Given the description of an element on the screen output the (x, y) to click on. 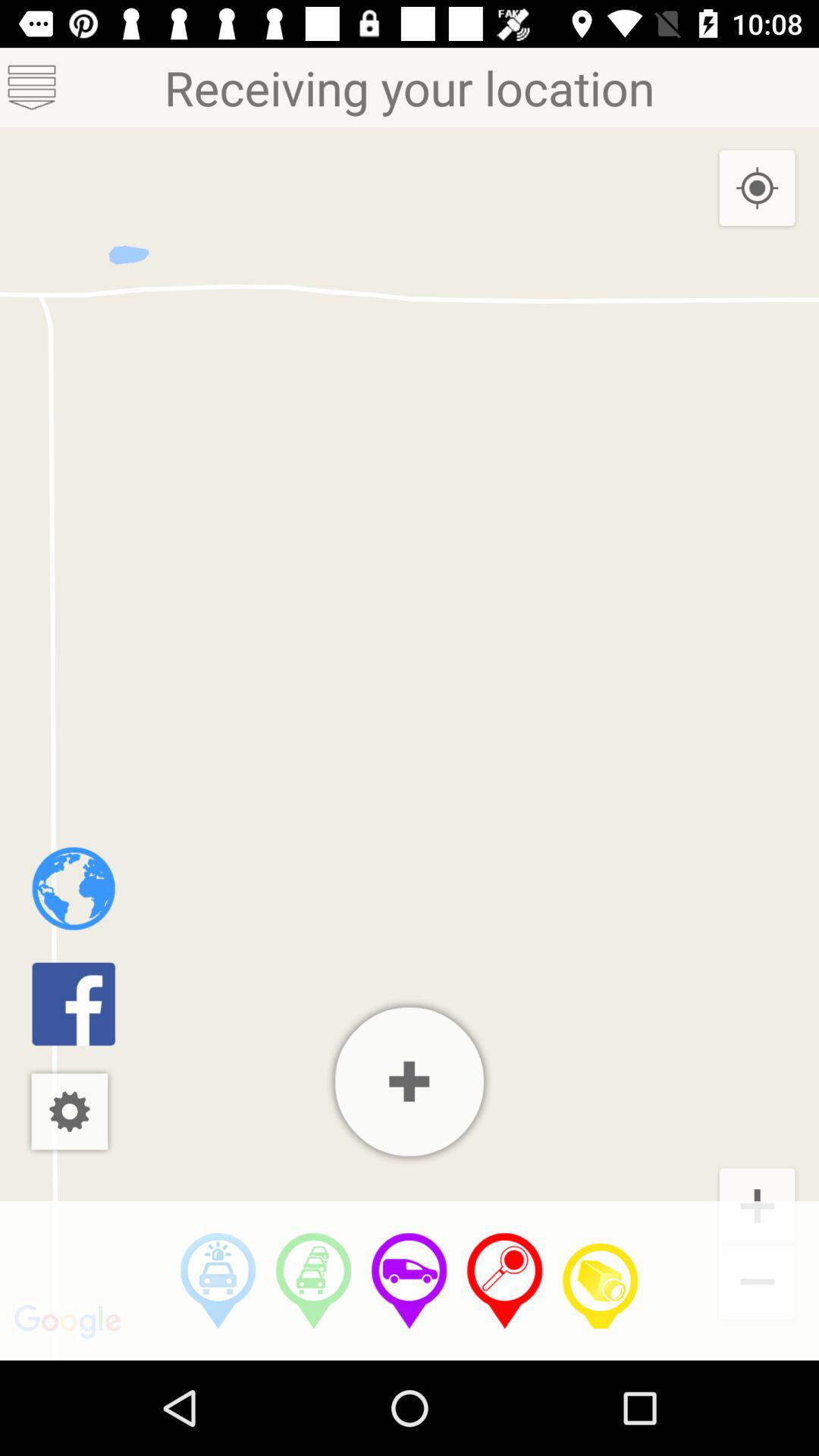
select world map (73, 888)
